Given the description of an element on the screen output the (x, y) to click on. 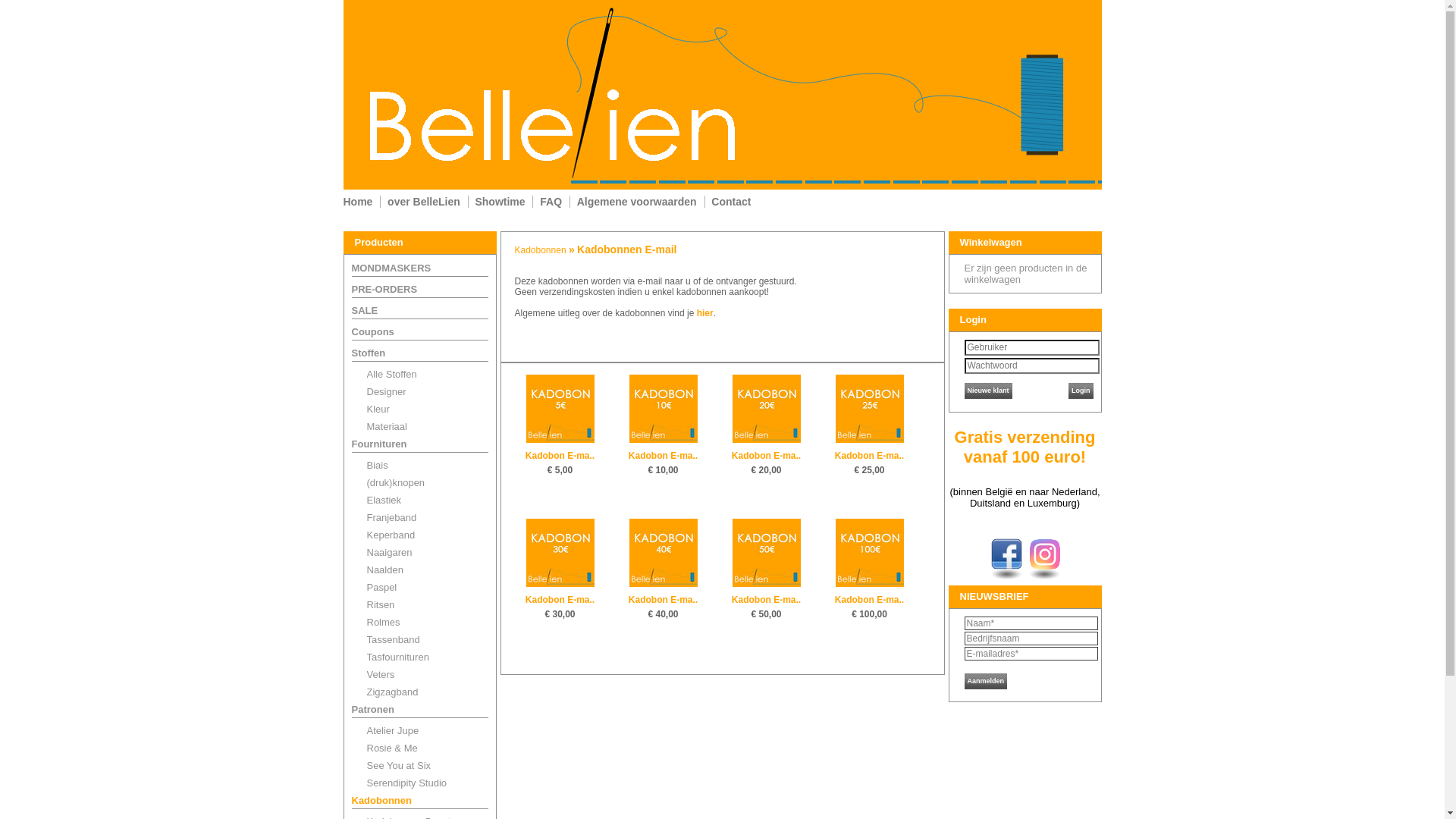
Kleur Element type: text (378, 408)
Patronen Element type: text (372, 709)
Kadobonnen Element type: text (381, 800)
Er zijn geen producten in de winkelwagen Element type: text (1025, 273)
Kadobon E-ma.. Element type: text (559, 455)
Ritsen Element type: text (381, 604)
Kadobon-E-mail-20-euro Element type: hover (766, 408)
Atelier Jupe Element type: text (393, 730)
Fournituren Element type: text (379, 443)
Rolmes Element type: text (383, 621)
Contact Element type: text (730, 201)
Kadobon E-ma.. Element type: text (868, 455)
Coupons Element type: text (372, 331)
Serendipity Studio Element type: text (407, 782)
Paspel Element type: text (382, 587)
Facebook Element type: text (1006, 553)
Zigzagband Element type: text (392, 691)
Rosie & Me Element type: text (392, 747)
Keperband Element type: text (391, 534)
over BelleLien Element type: text (423, 201)
Kadobon-E-mail-40-euro Element type: hover (663, 552)
Kadobon E-ma.. Element type: text (662, 599)
Kadobon-E-mail-10-euro Element type: hover (663, 408)
MONDMASKERS Element type: text (391, 267)
Kadobon-E-mail-30-euro Element type: hover (560, 552)
Showtime Element type: text (499, 201)
Kadobon E-ma.. Element type: text (868, 599)
Kadobon E-ma.. Element type: text (765, 455)
Stoffen Element type: text (368, 352)
Kadobon E-ma.. Element type: text (662, 455)
Kadobon E-ma.. Element type: text (559, 599)
Algemene voorwaarden Element type: text (636, 201)
Aanmelden Element type: text (985, 678)
Designer Element type: text (386, 391)
Kadobon-E-mail-50-euro Element type: hover (766, 552)
Naalden Element type: text (385, 569)
Alle Stoffen Element type: text (392, 373)
Instagram Element type: text (1044, 553)
Naaigaren Element type: text (389, 552)
Biais Element type: text (377, 464)
See You at Six Element type: text (399, 765)
(druk)knopen Element type: text (396, 482)
Kadobon-E-mail-100-euro Element type: hover (869, 552)
hier Element type: text (704, 312)
PRE-ORDERS Element type: text (384, 288)
Elastiek Element type: text (384, 499)
Login Element type: text (1080, 392)
Nieuwe klant Element type: text (988, 392)
Veters Element type: text (381, 674)
Tassenband Element type: text (393, 639)
Materiaal Element type: text (387, 426)
Home Element type: text (357, 201)
FAQ Element type: text (550, 201)
Kadobon-E-mail-25-euro Element type: hover (869, 408)
Tasfournituren Element type: text (398, 656)
Kadobon E-ma.. Element type: text (765, 599)
Kadobonnen Element type: text (540, 249)
SALE Element type: text (364, 310)
Franjeband Element type: text (392, 517)
Kadobon-E-mail-5-euro Element type: hover (560, 408)
